Given the description of an element on the screen output the (x, y) to click on. 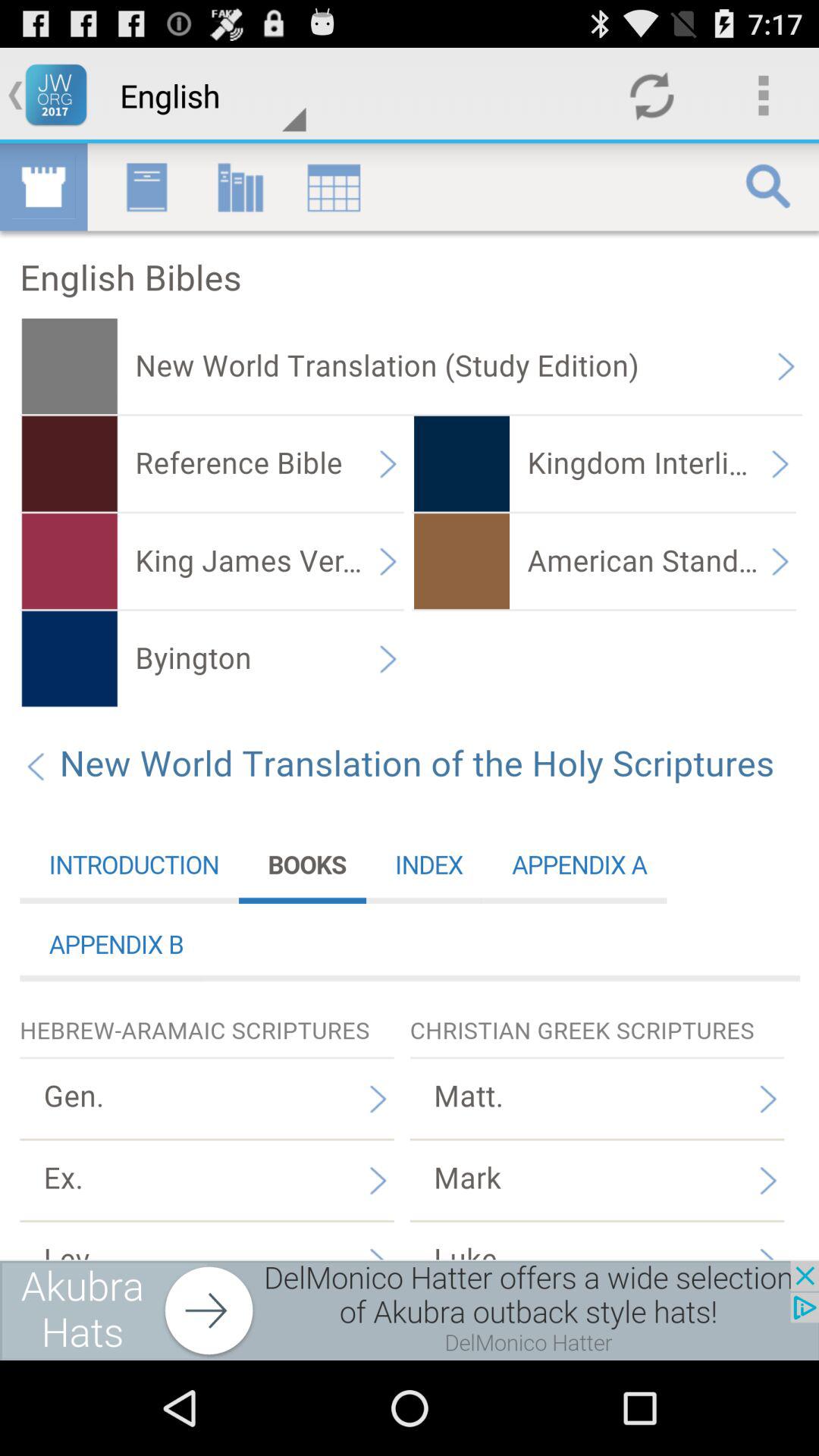
move (409, 1310)
